Given the description of an element on the screen output the (x, y) to click on. 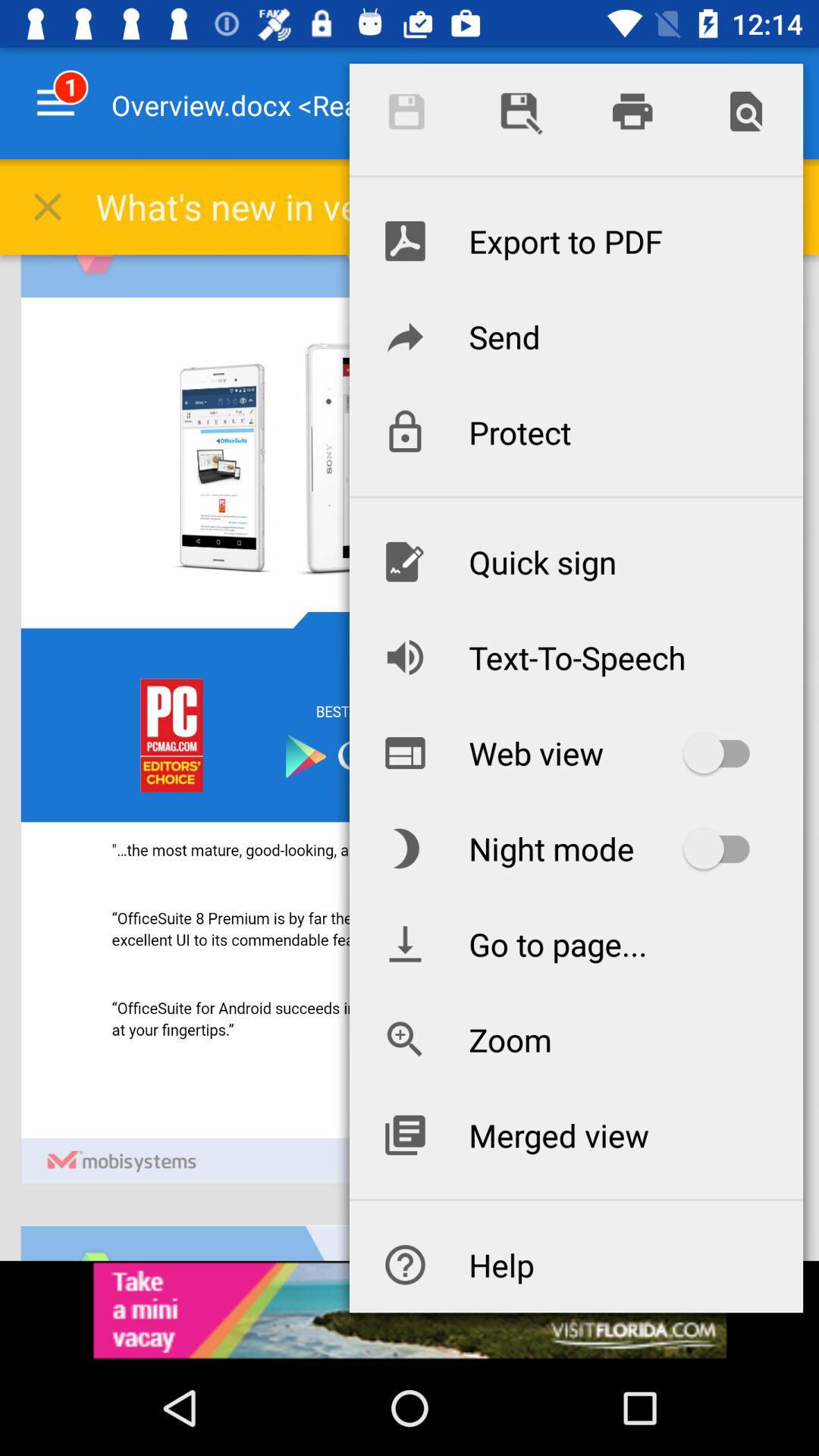
scroll until the help (576, 1264)
